Given the description of an element on the screen output the (x, y) to click on. 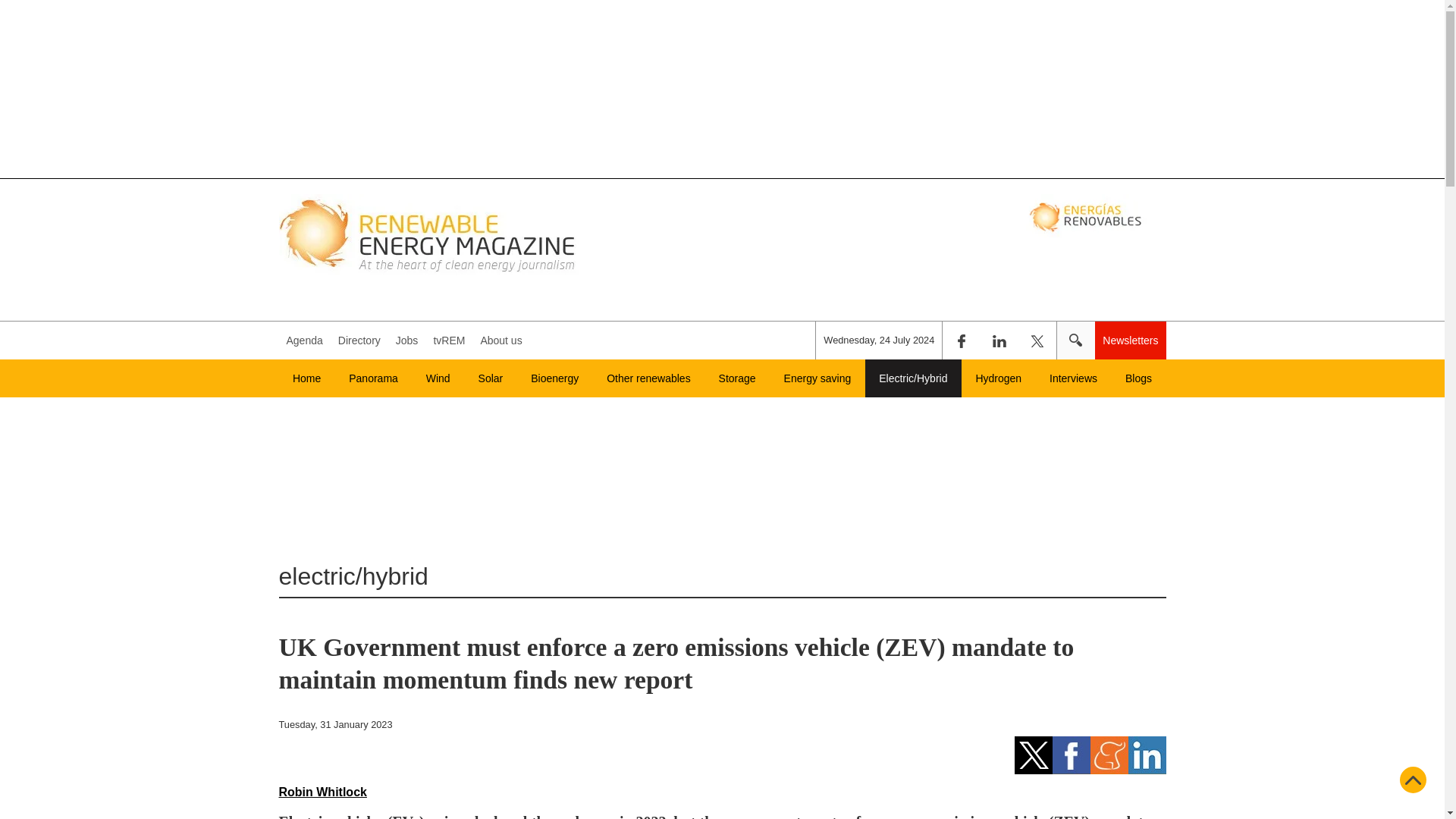
Go to Panorama (373, 378)
Go to About us (500, 340)
Go to Jobs (407, 340)
Go to Solar (490, 378)
About us (500, 340)
Go to Companies directory (359, 340)
Home (306, 378)
Newsletters (1130, 340)
Solar (490, 378)
Other renewables (648, 378)
